Given the description of an element on the screen output the (x, y) to click on. 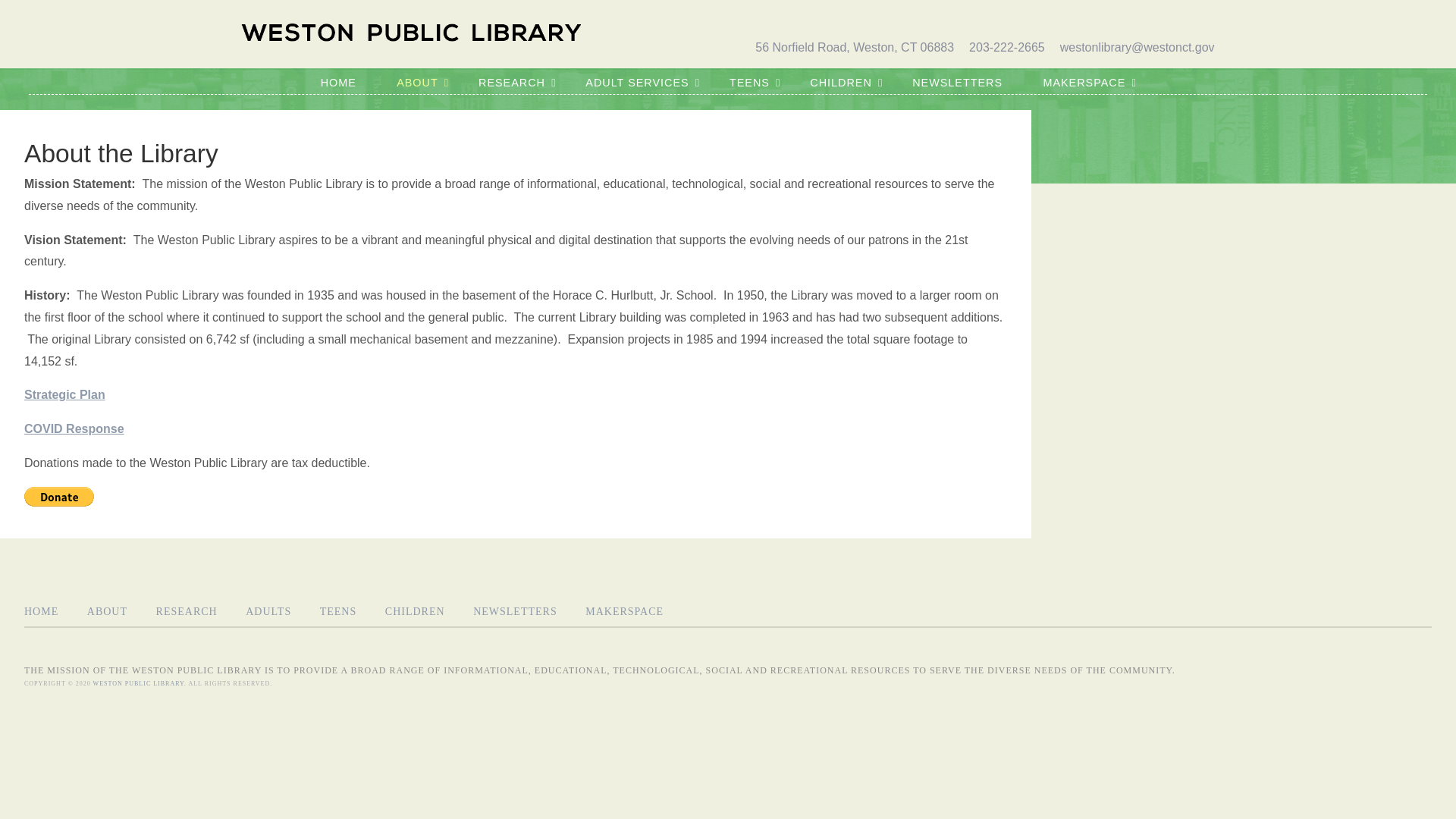
Directions (852, 19)
Weston Public Library (138, 683)
Hours (780, 19)
Instagram (1201, 20)
WESTON PUBLIC LIBRARY (629, 71)
Contact (929, 19)
WESTON PUBLIC LIBRARY (410, 33)
